Given the description of an element on the screen output the (x, y) to click on. 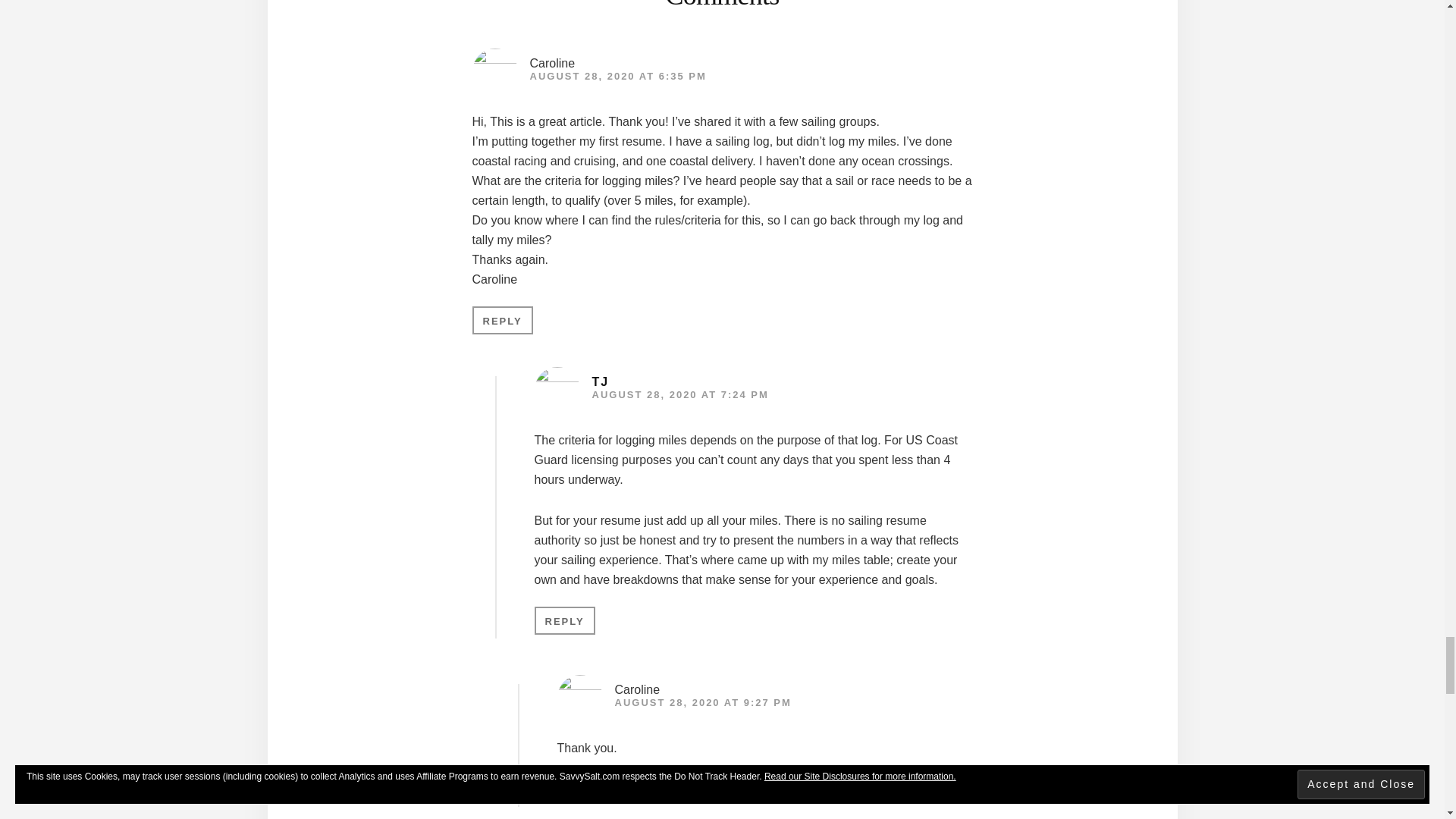
AUGUST 28, 2020 AT 9:27 PM (702, 702)
AUGUST 28, 2020 AT 6:35 PM (617, 75)
AUGUST 28, 2020 AT 7:24 PM (679, 394)
REPLY (586, 788)
TJ (599, 381)
REPLY (501, 320)
REPLY (564, 620)
